Given the description of an element on the screen output the (x, y) to click on. 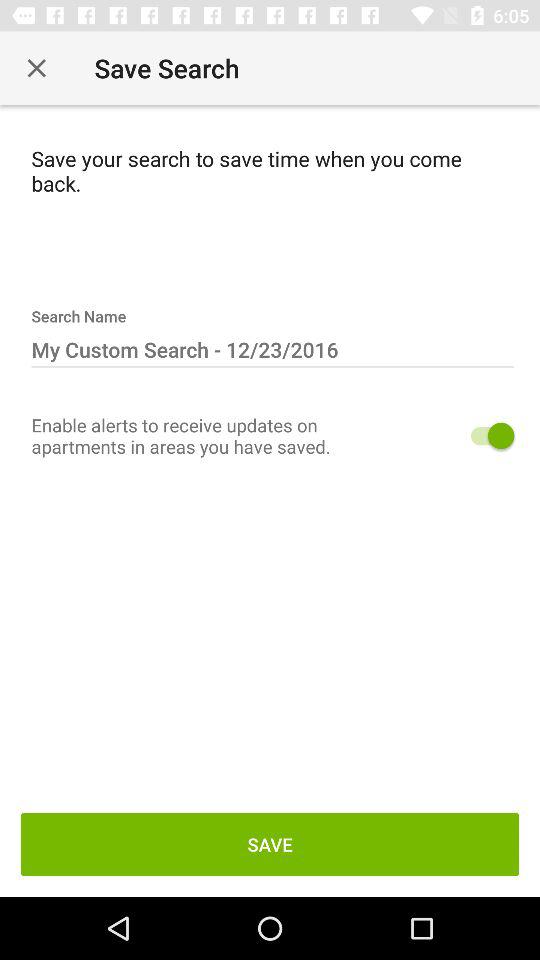
close window (36, 68)
